Given the description of an element on the screen output the (x, y) to click on. 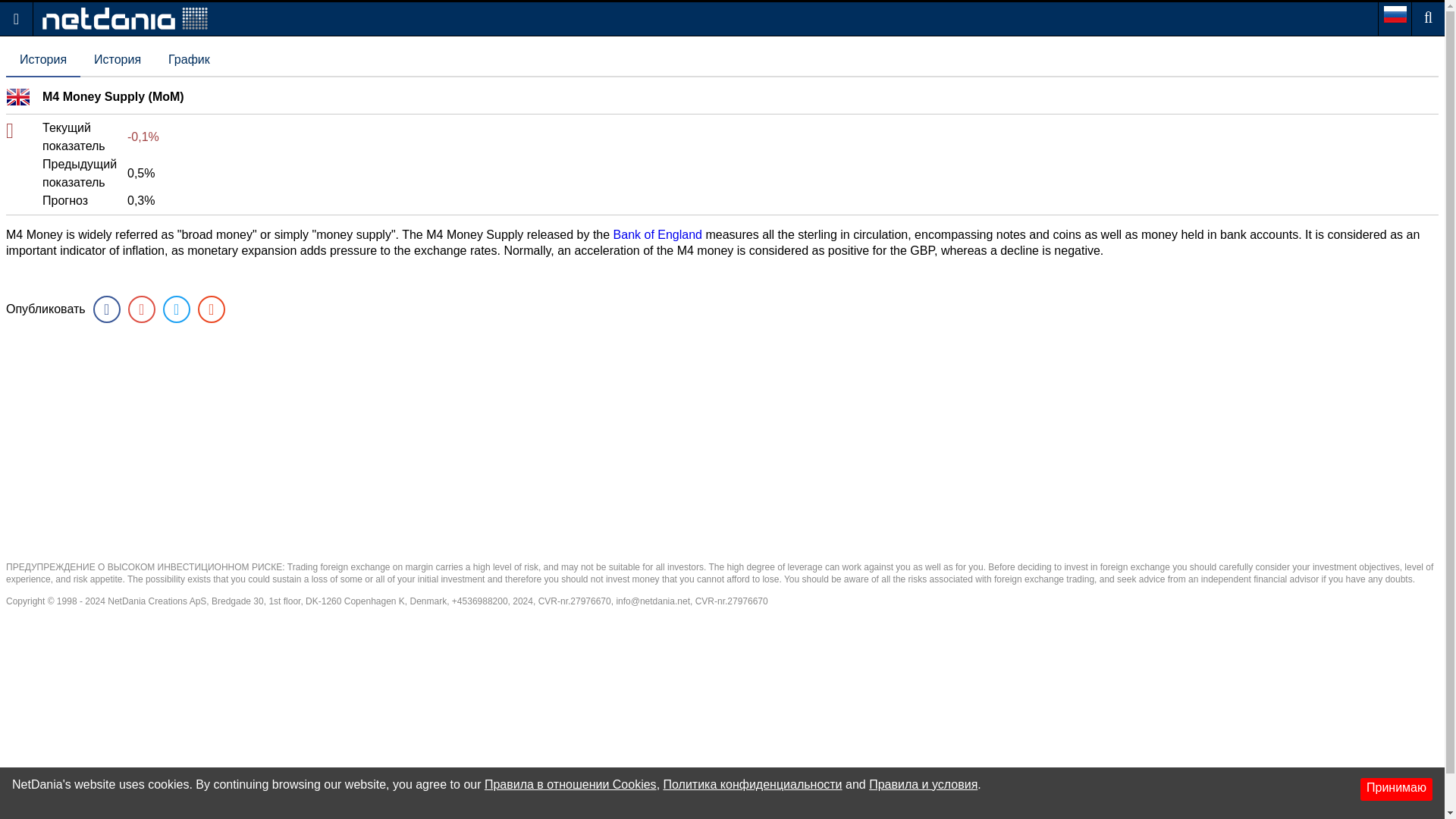
Bank of England (656, 234)
